Given the description of an element on the screen output the (x, y) to click on. 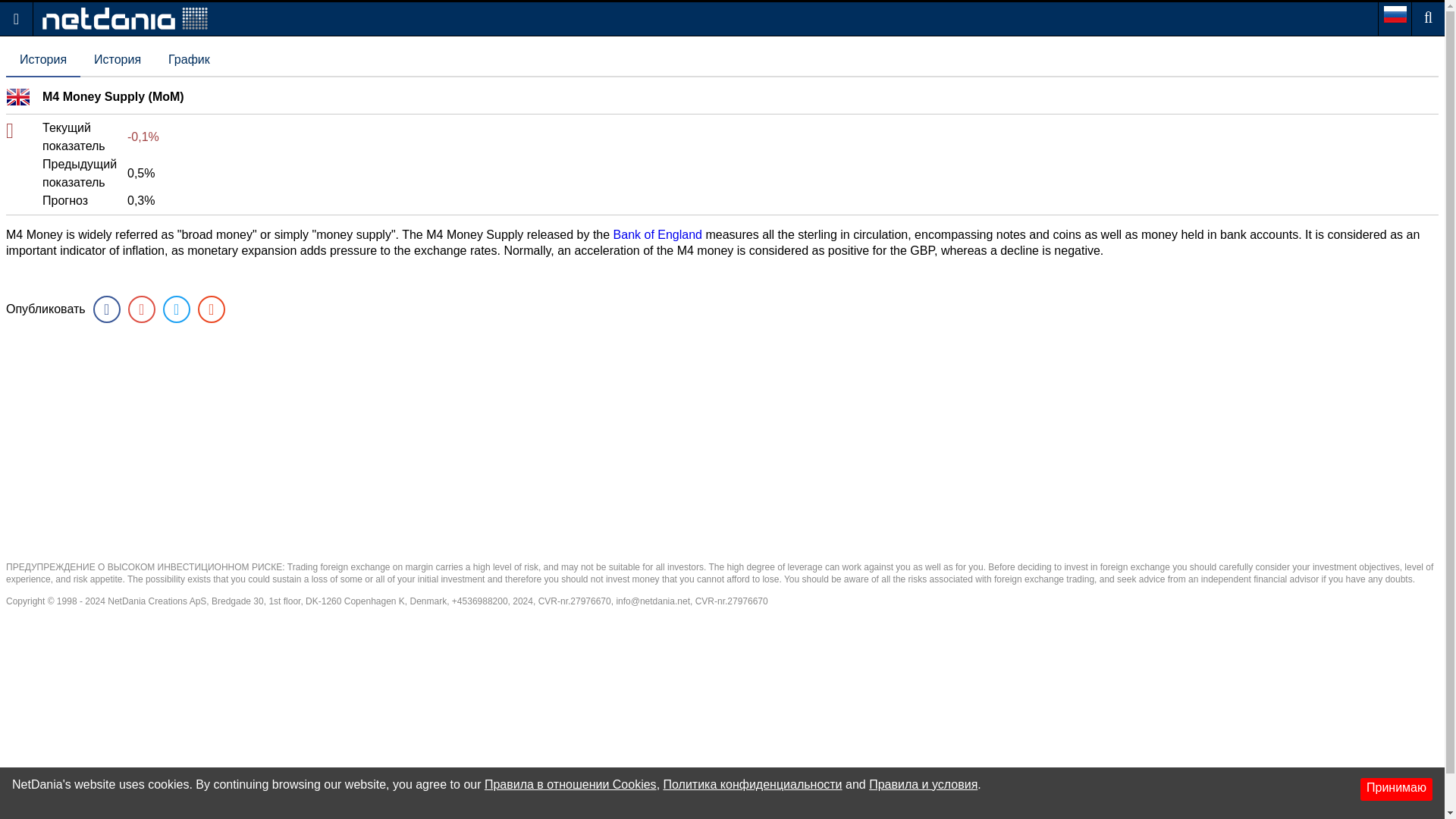
Bank of England (656, 234)
